Given the description of an element on the screen output the (x, y) to click on. 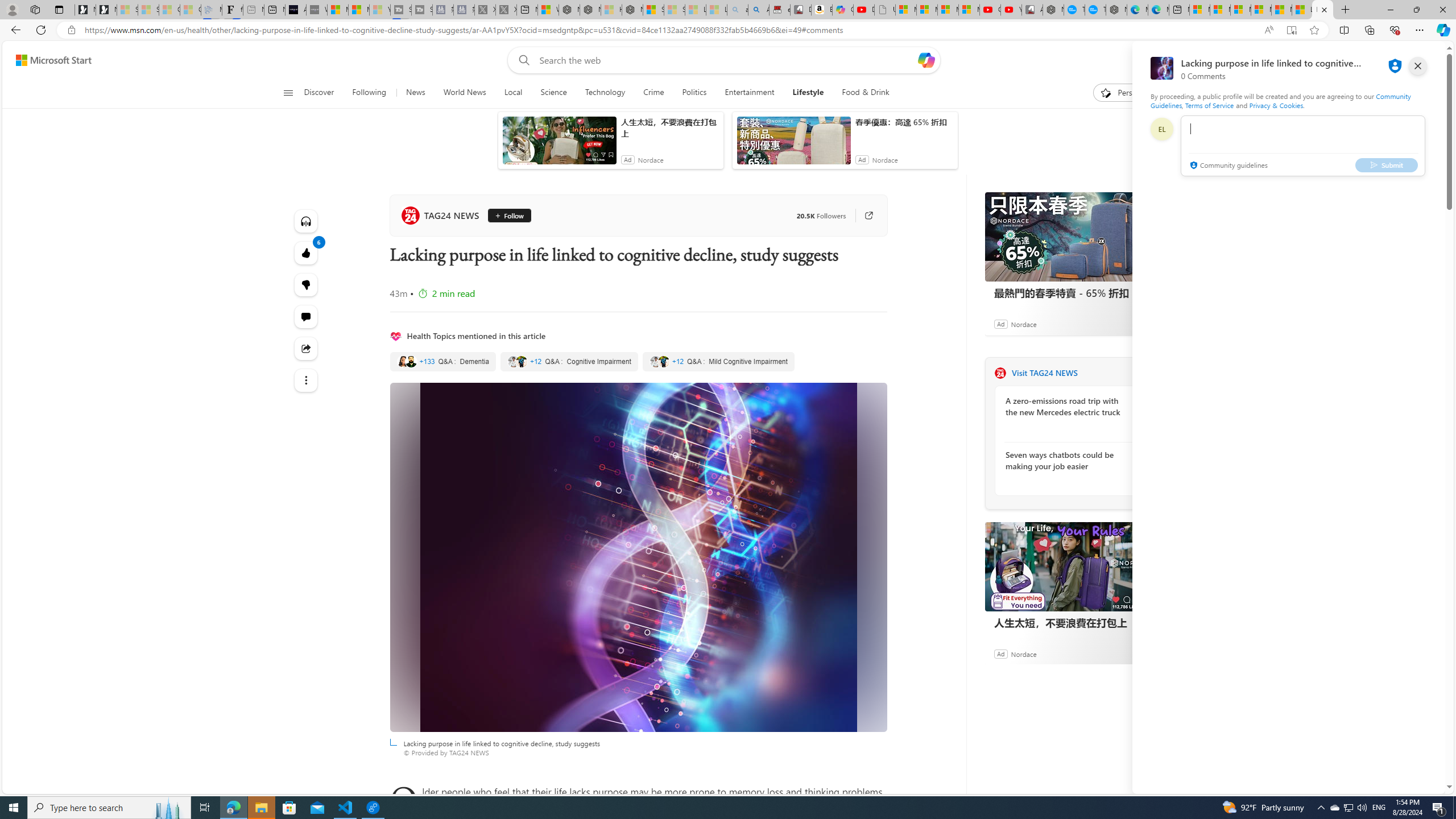
Profile Picture (1161, 128)
To get missing image descriptions, open the context menu. (1105, 92)
Amazon Echo Dot PNG - Search Images (759, 9)
Terms of Service (1209, 104)
Lifestyle (807, 92)
Technology (605, 92)
Class: quote-thumbnail (662, 361)
